Given the description of an element on the screen output the (x, y) to click on. 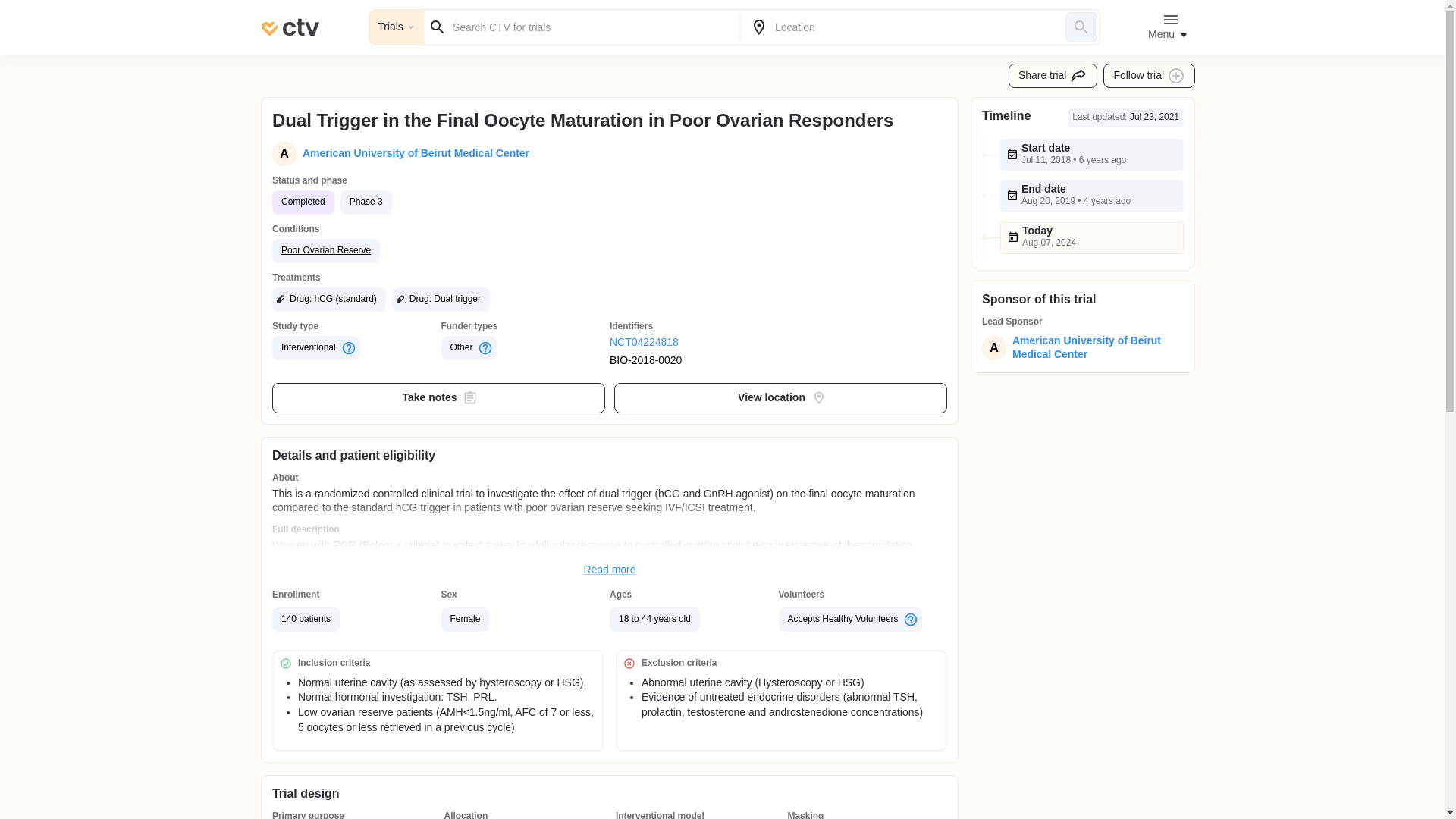
Follow trial (1149, 75)
American University of Beirut Medical Center (413, 153)
Take notes (438, 398)
Trials (396, 27)
View location (780, 398)
American University of Beirut Medical Center (1094, 347)
NCT04224818 (694, 342)
Read more (609, 570)
Share trial (1053, 75)
